Given the description of an element on the screen output the (x, y) to click on. 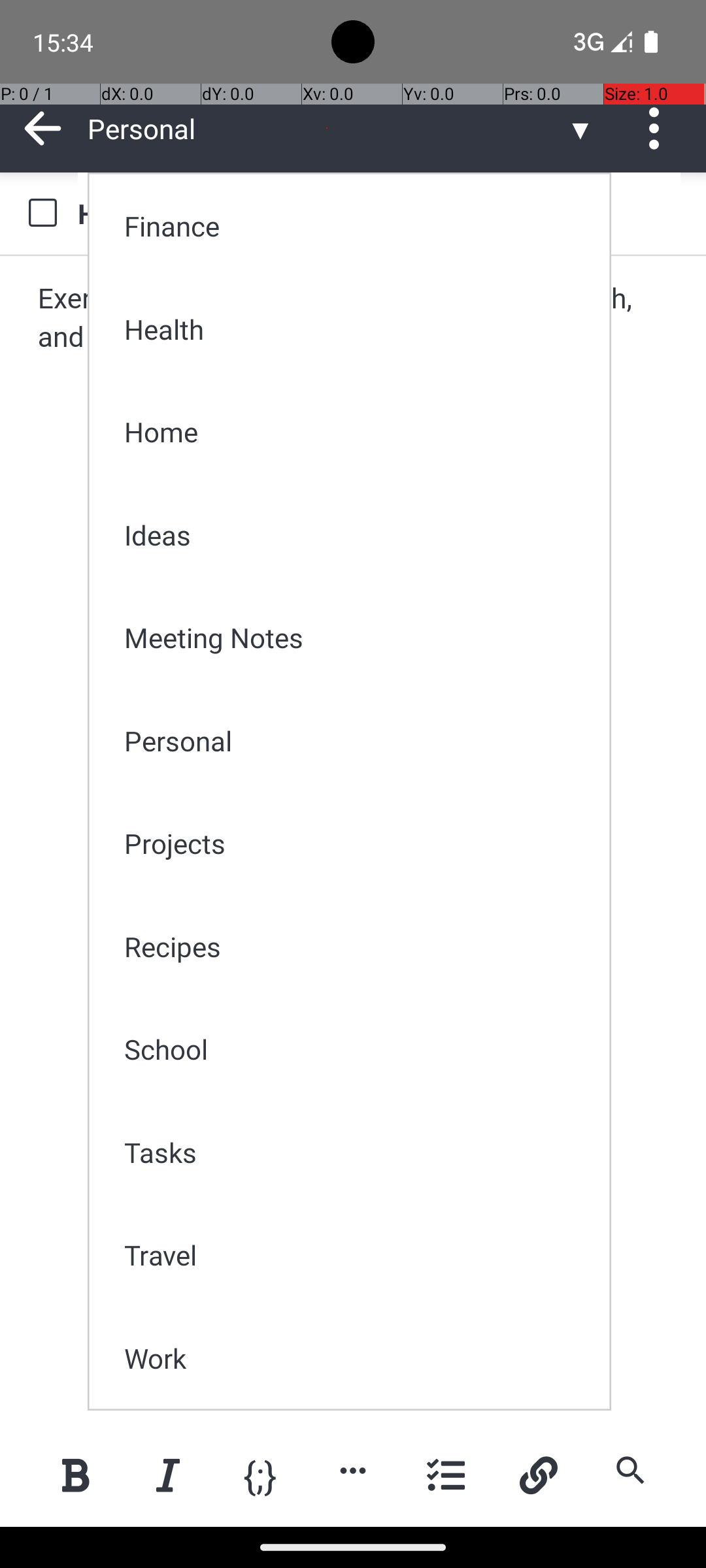
Finance Element type: android.widget.TextView (358, 225)
Health Element type: android.widget.TextView (358, 328)
Ideas Element type: android.widget.TextView (358, 534)
Meeting Notes Element type: android.widget.TextView (358, 636)
Personal Element type: android.widget.TextView (358, 740)
Recipes Element type: android.widget.TextView (358, 945)
School Element type: android.widget.TextView (358, 1048)
Tasks Element type: android.widget.TextView (358, 1151)
Travel Element type: android.widget.TextView (358, 1254)
Work Element type: android.widget.TextView (358, 1357)
